Given the description of an element on the screen output the (x, y) to click on. 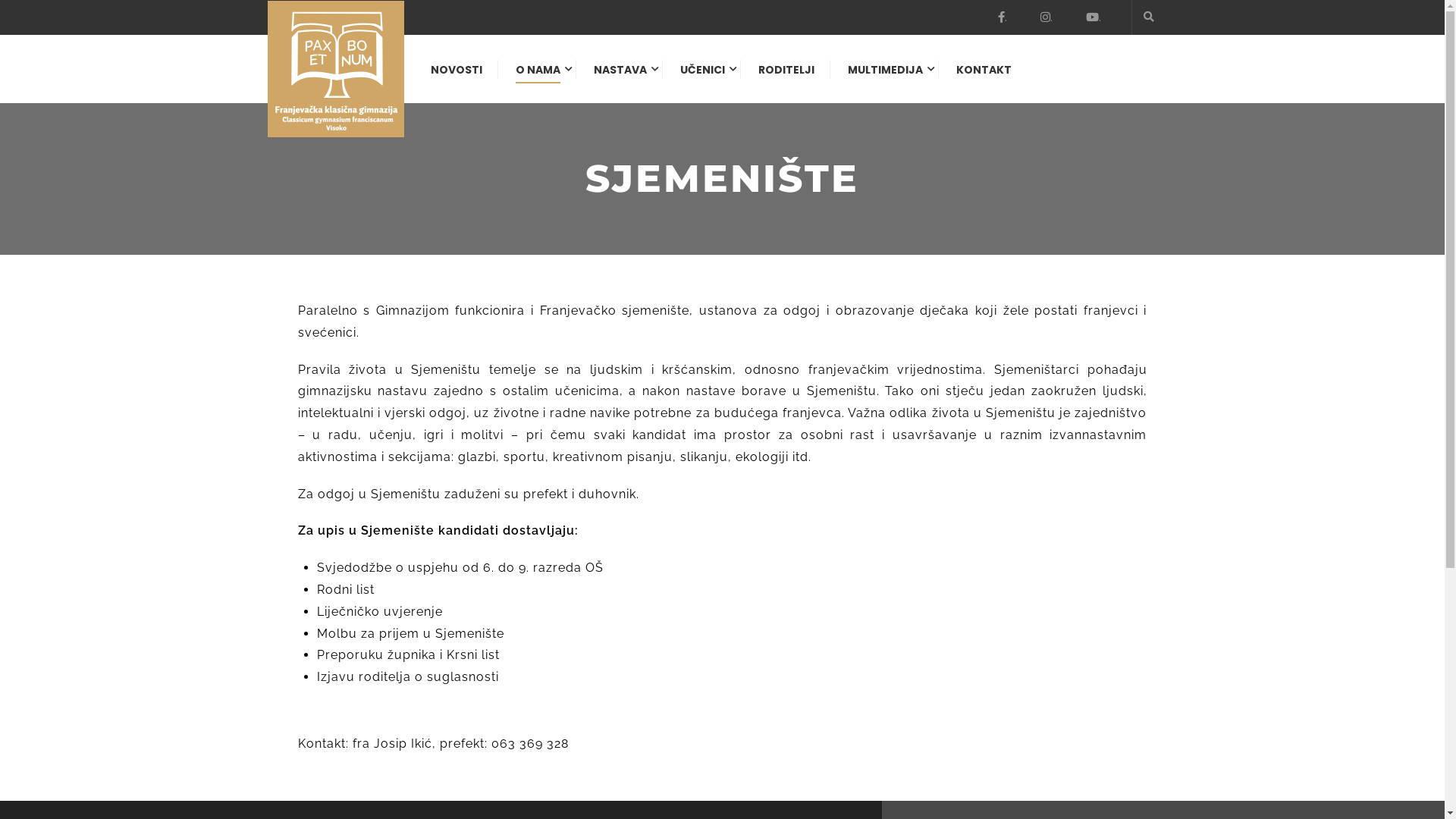
RODITELJI Element type: text (786, 76)
NASTAVA Element type: text (619, 76)
KONTAKT Element type: text (975, 76)
O NAMA Element type: text (537, 76)
. Element type: text (1093, 17)
NOVOSTI Element type: text (456, 76)
. Element type: text (1002, 17)
. Element type: text (1046, 17)
MULTIMEDIJA Element type: text (885, 76)
